Given the description of an element on the screen output the (x, y) to click on. 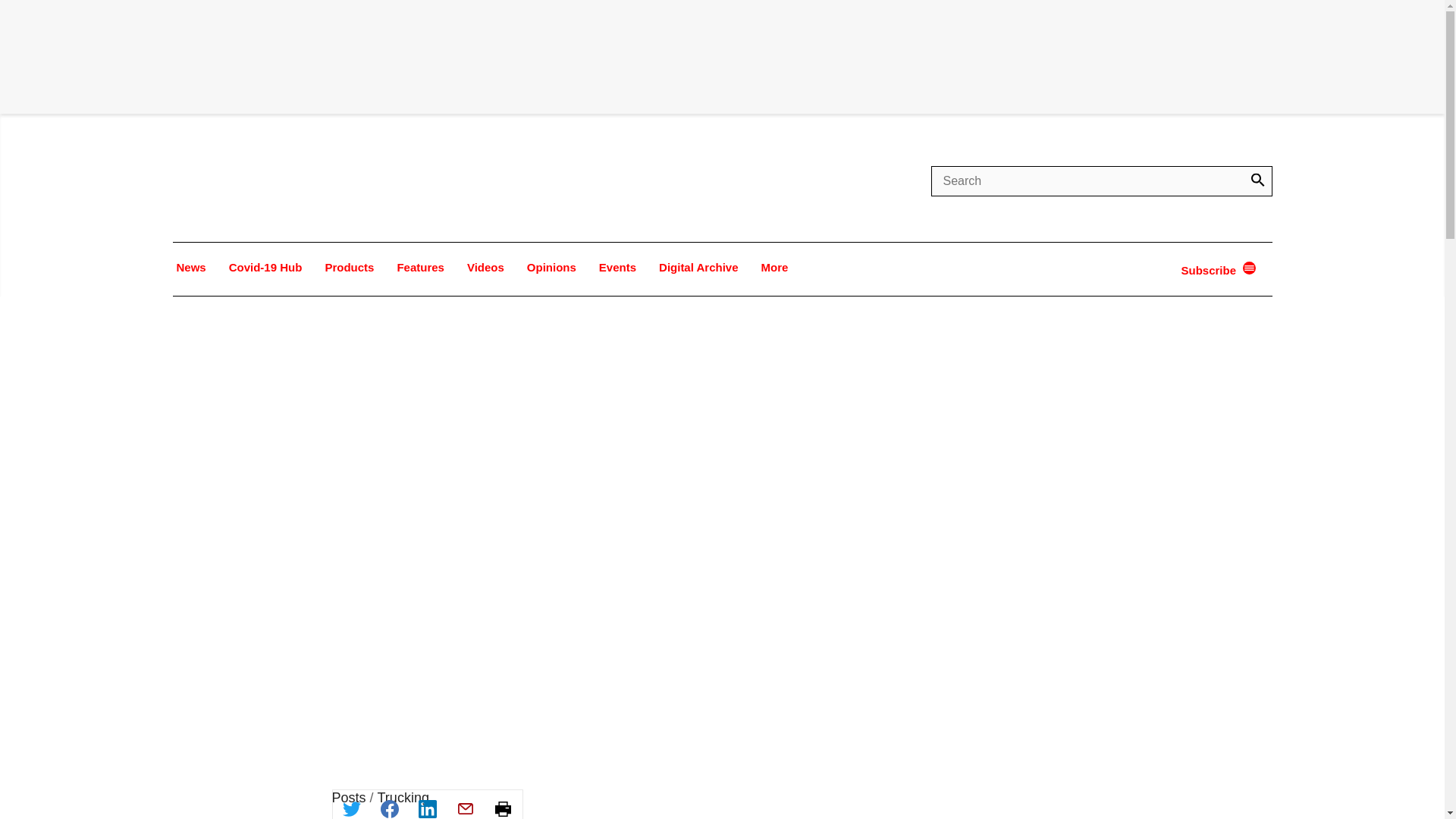
Print page. (502, 804)
News (191, 267)
3rd party ad content (801, 804)
Digital Archive (698, 267)
Features (420, 267)
3rd party ad content (721, 56)
Products (348, 267)
Opinions (550, 267)
Covid-19 Hub (265, 267)
Posts (348, 797)
